Given the description of an element on the screen output the (x, y) to click on. 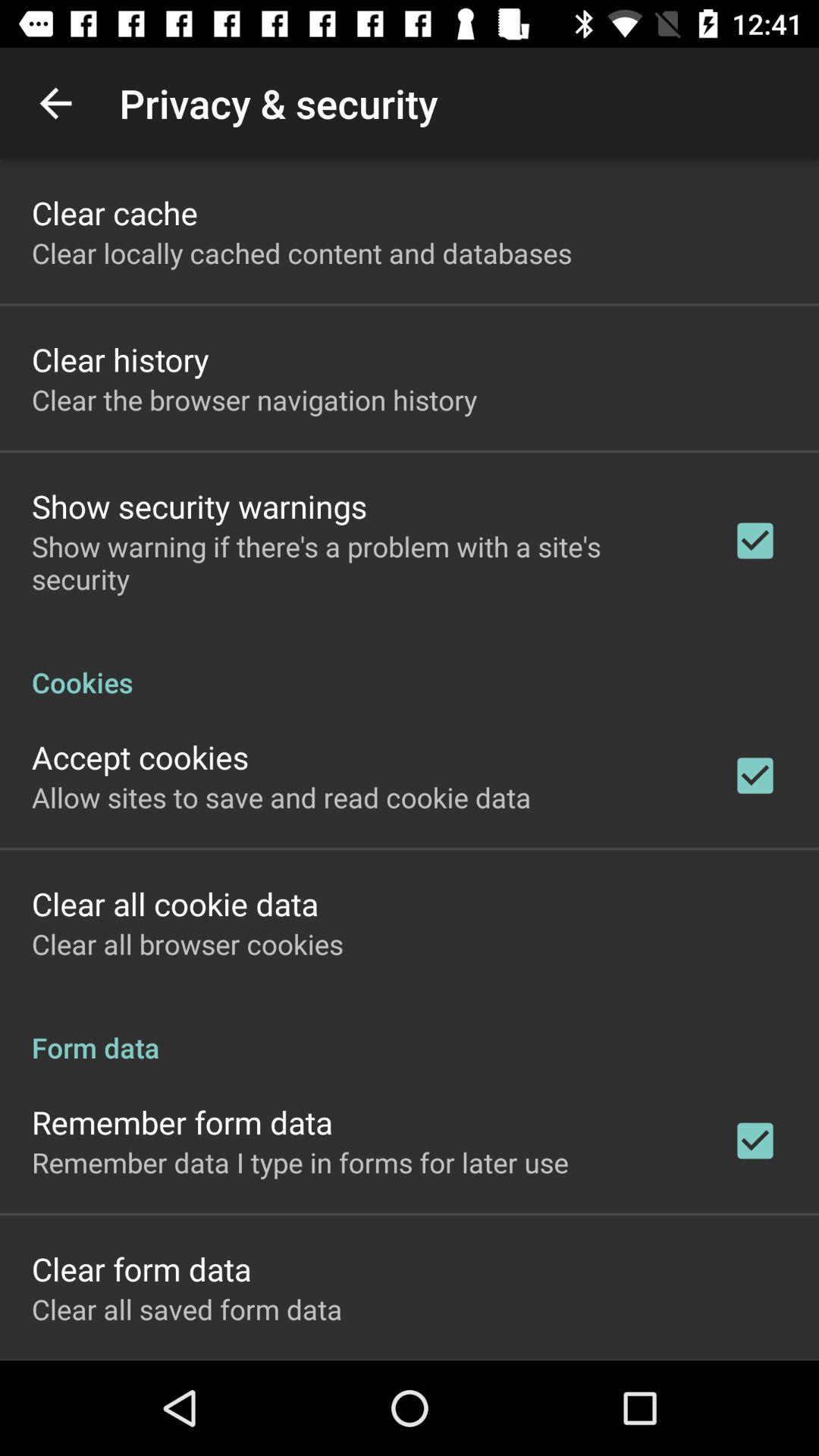
jump until clear cache item (114, 212)
